Given the description of an element on the screen output the (x, y) to click on. 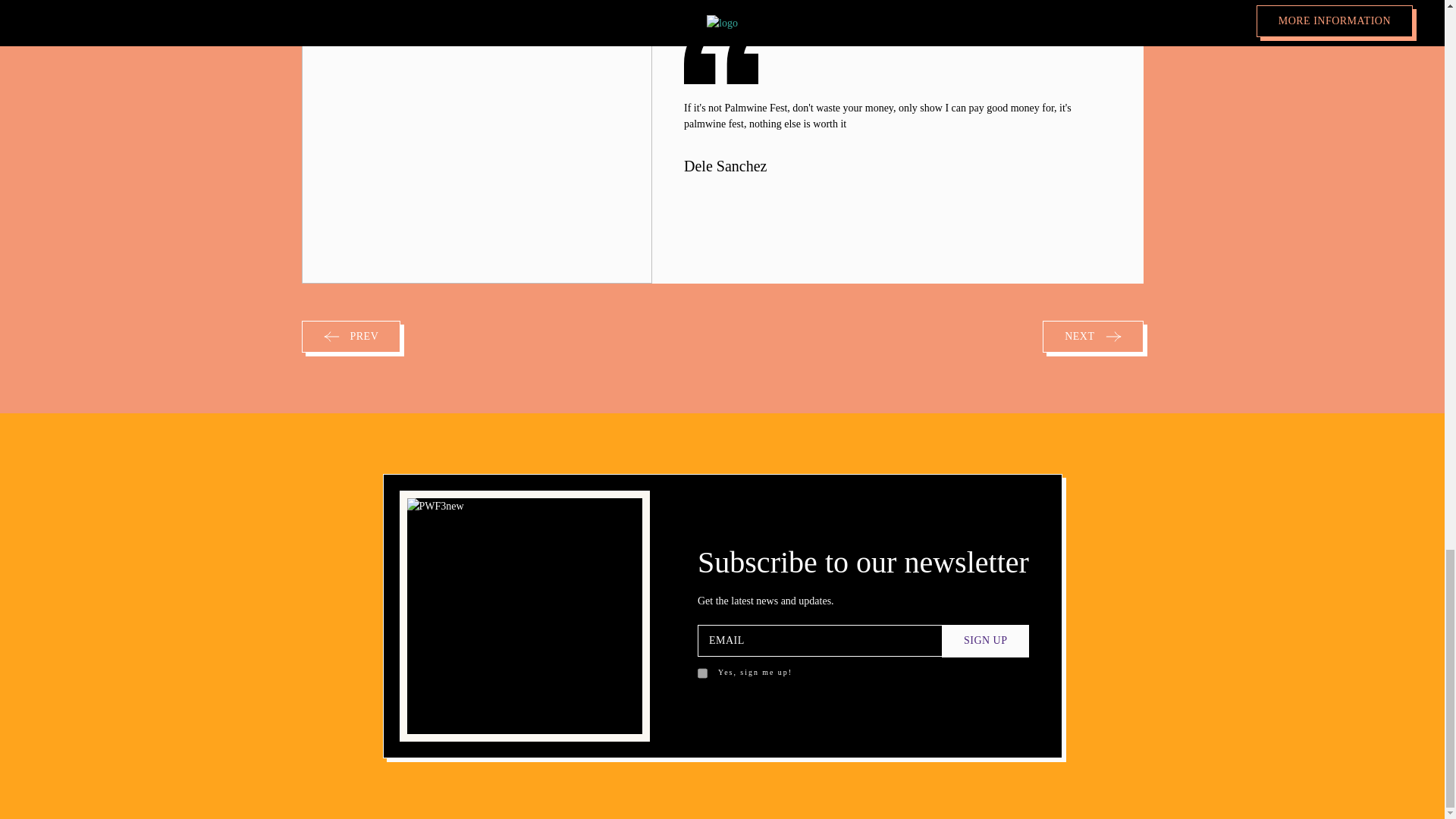
Sign Up (985, 640)
Sign Up (985, 640)
